Given the description of an element on the screen output the (x, y) to click on. 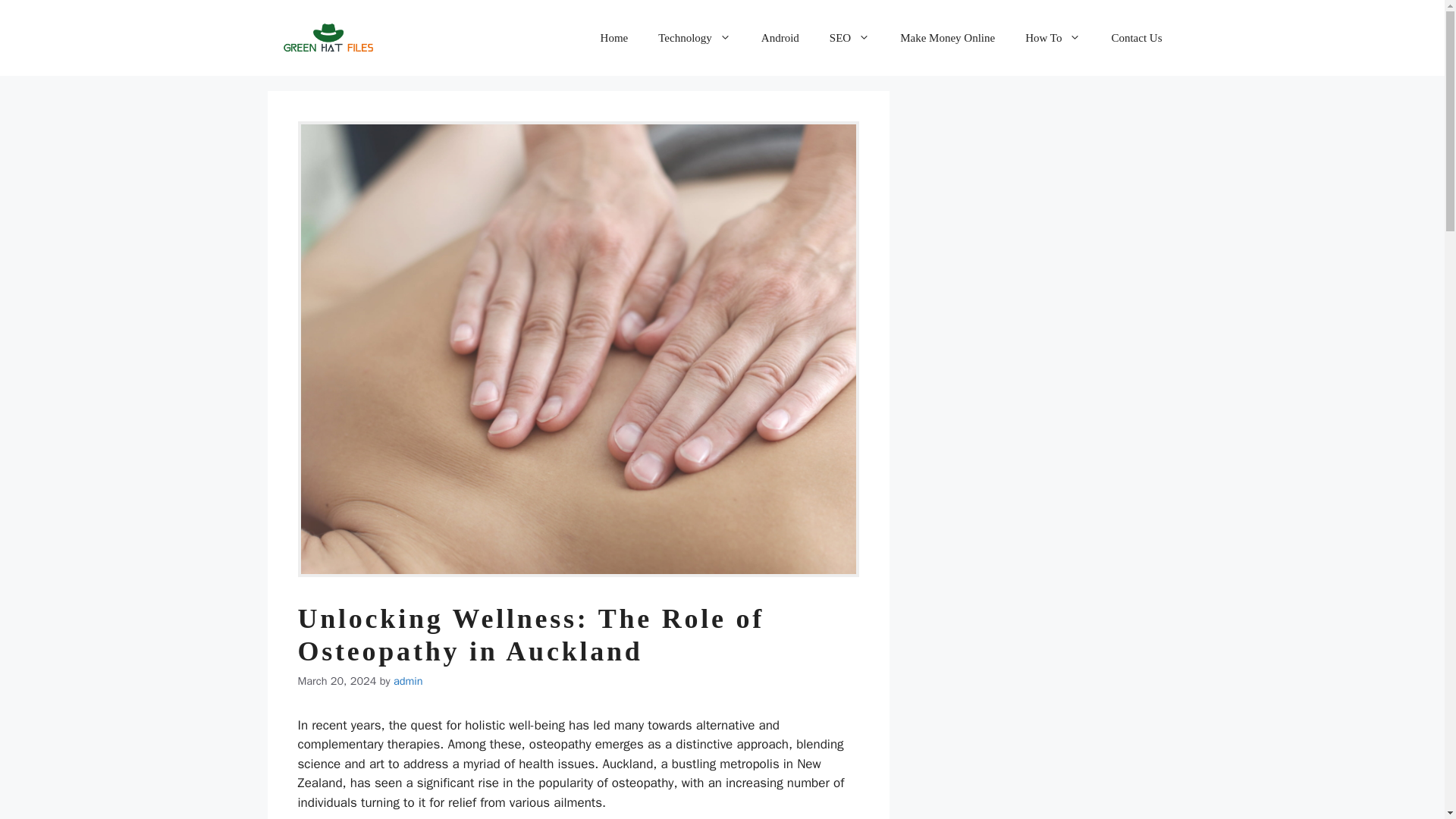
View all posts by admin (408, 680)
Home (614, 37)
Technology (694, 37)
